Given the description of an element on the screen output the (x, y) to click on. 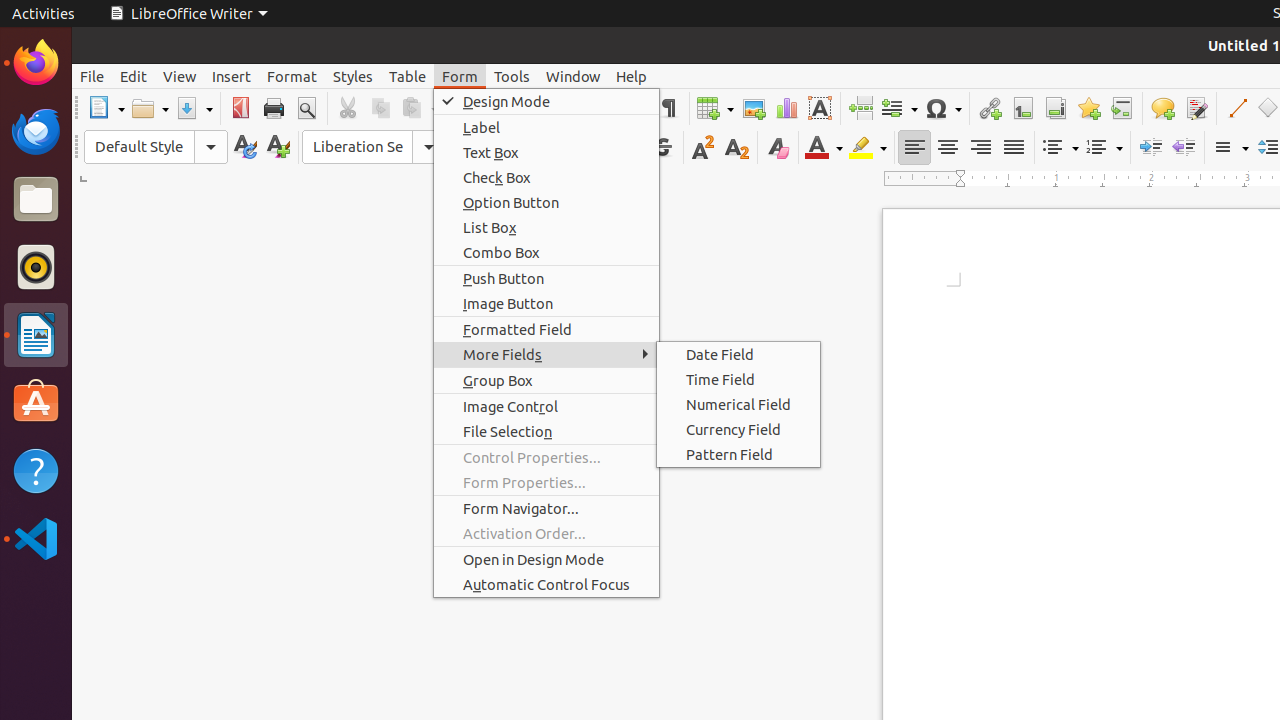
Clear Element type: push-button (777, 147)
File Selection Element type: check-menu-item (546, 431)
Group Box Element type: check-menu-item (546, 380)
Files Element type: push-button (36, 199)
Edit Element type: menu (133, 76)
